Given the description of an element on the screen output the (x, y) to click on. 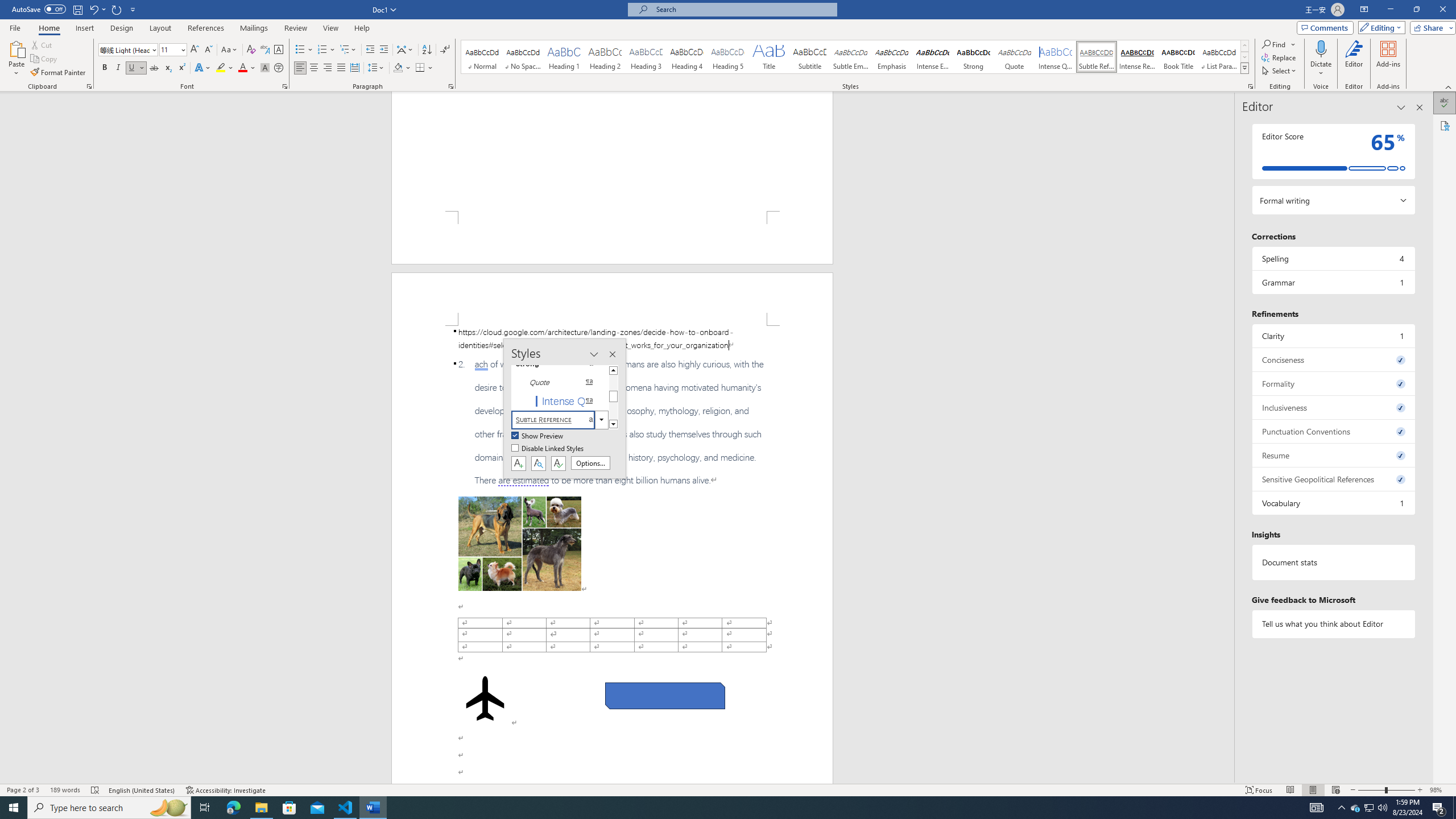
Row up (1244, 45)
Increase Indent (383, 49)
Sort... (426, 49)
Italic (118, 67)
Text Highlight Color (224, 67)
Subscript (167, 67)
Office Clipboard... (88, 85)
Book Title (1177, 56)
Editor Score 65% (1333, 151)
Disable Linked Styles (548, 448)
